Given the description of an element on the screen output the (x, y) to click on. 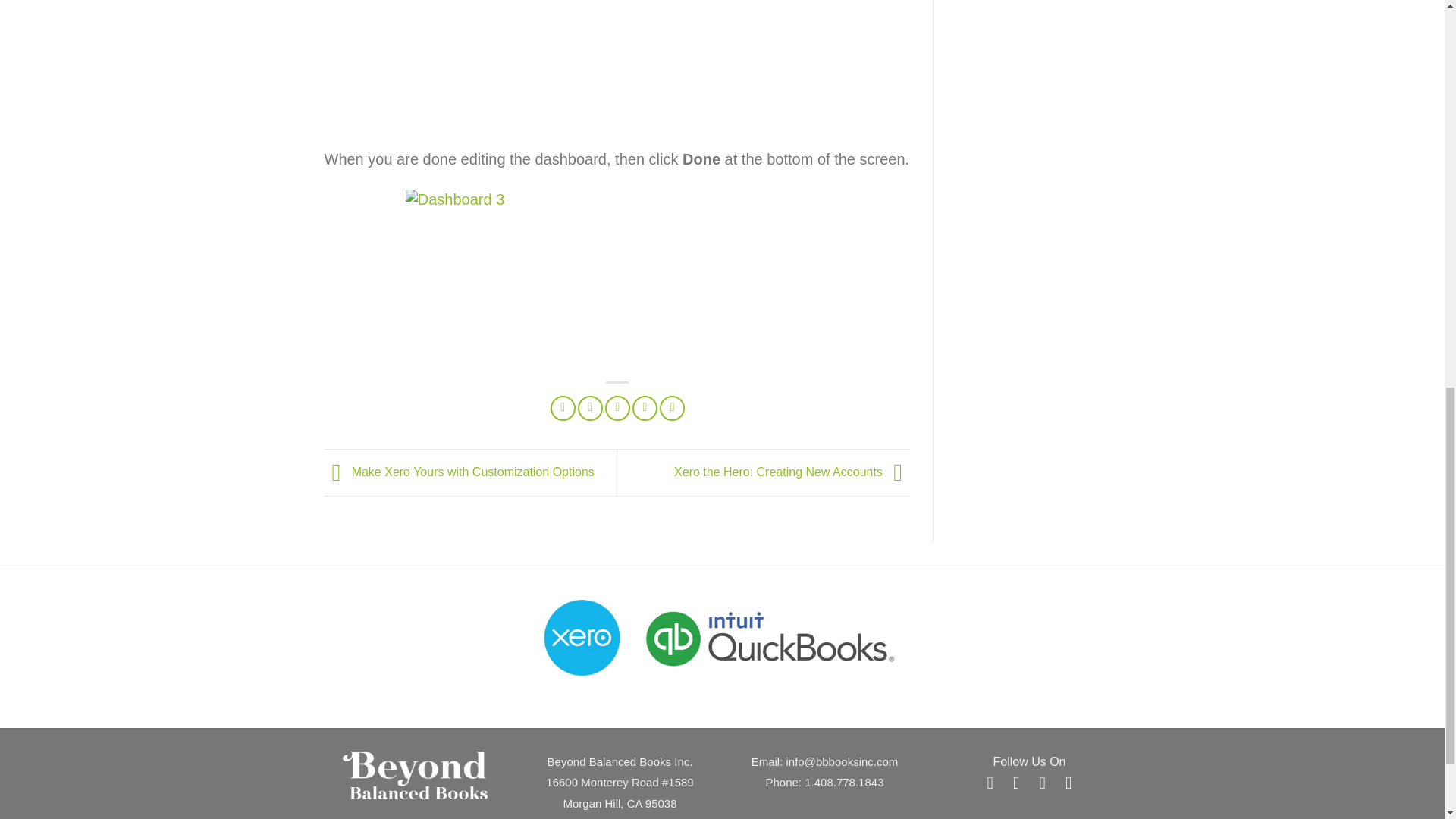
Make Xero Yours with Customization Options (459, 472)
Xero the Hero: Creating New Accounts (792, 472)
